Given the description of an element on the screen output the (x, y) to click on. 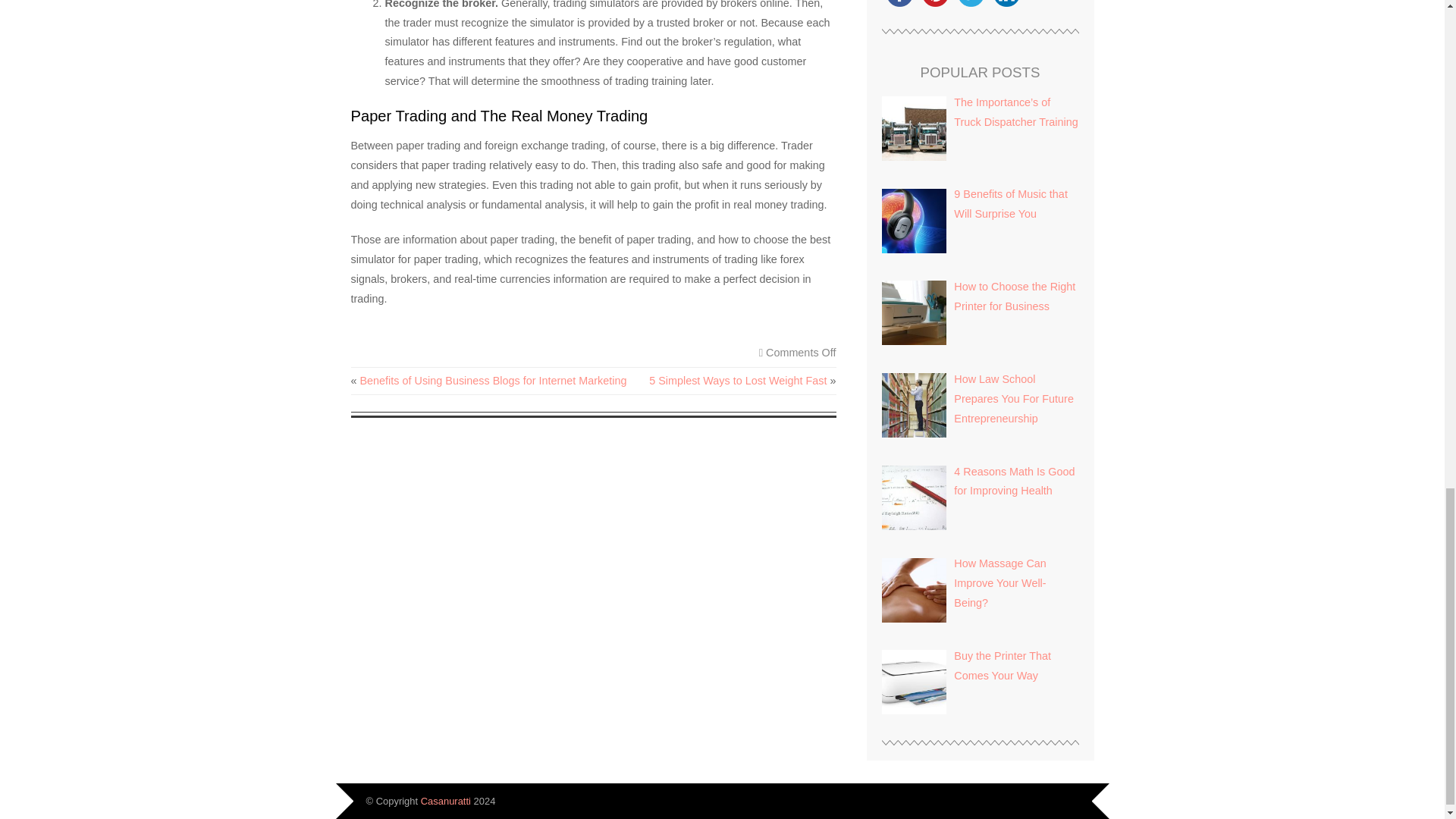
Facebook (898, 5)
Buy the Printer That Comes Your Way (1002, 665)
Benefits of Using Business Blogs for Internet Marketing (493, 380)
How Massage Can Improve Your Well-Being? (999, 583)
5 Simplest Ways to Lost Weight Fast (738, 380)
How Law School Prepares You For Future Entrepreneurship (1013, 399)
4 Reasons Math Is Good for Improving Health (1013, 481)
Casanuratti (445, 800)
How to Choose the Right Printer for Business (1014, 296)
LinkedIn (1006, 5)
9 Benefits of Music that Will Surprise You (1010, 204)
Twitter (970, 5)
Pinterest (935, 5)
